Given the description of an element on the screen output the (x, y) to click on. 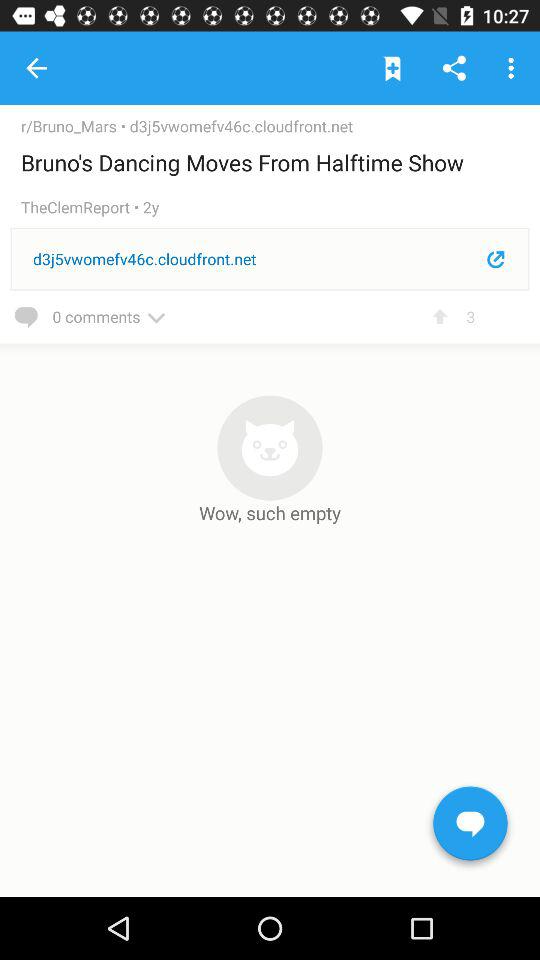
choose icon at the bottom right corner (470, 827)
